Given the description of an element on the screen output the (x, y) to click on. 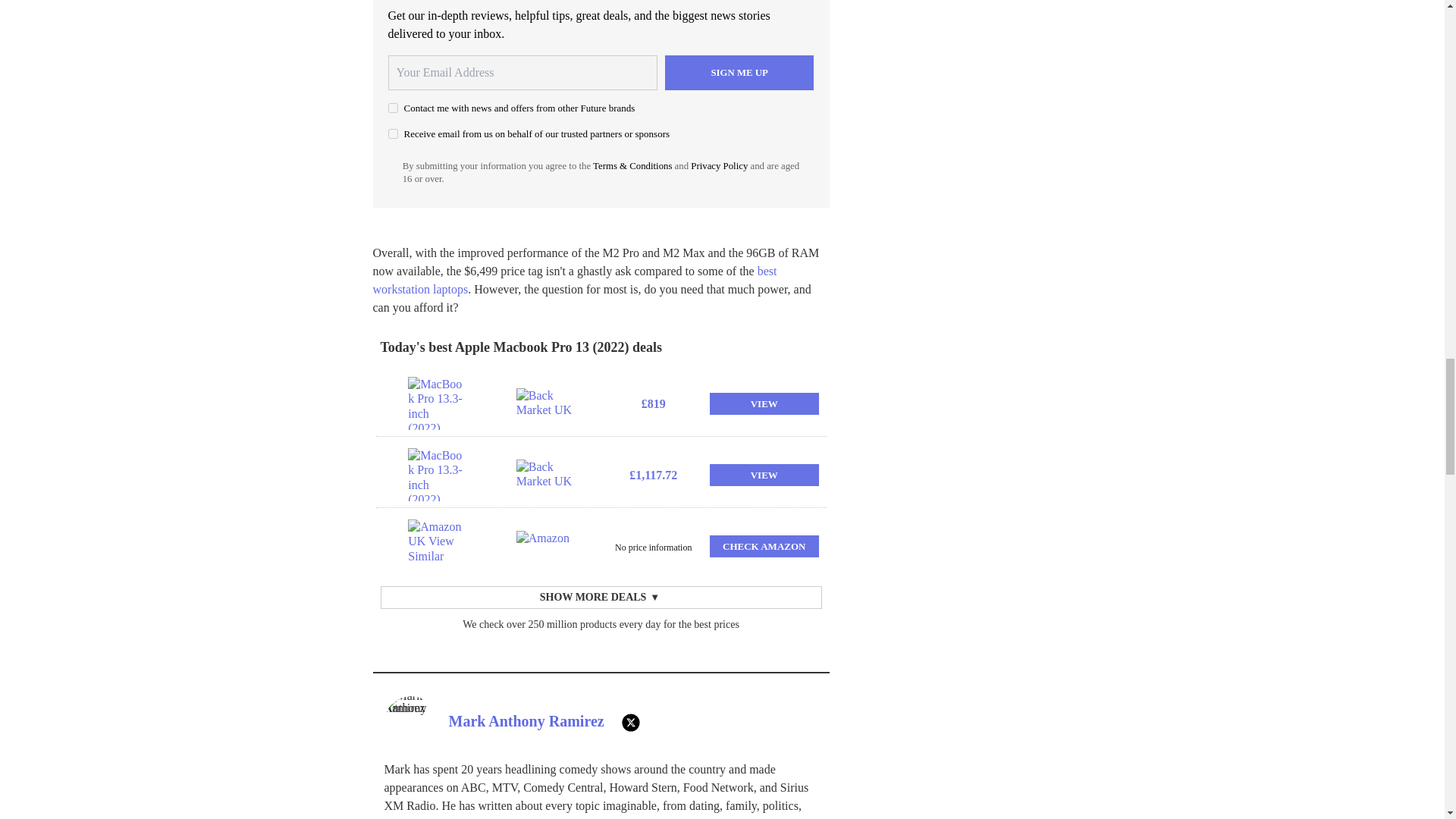
Back Market UK (546, 474)
on (392, 108)
Back Market UK (546, 403)
Sign me up (739, 72)
Amazon (546, 545)
Amazon UK View Similar (437, 545)
on (392, 133)
